Given the description of an element on the screen output the (x, y) to click on. 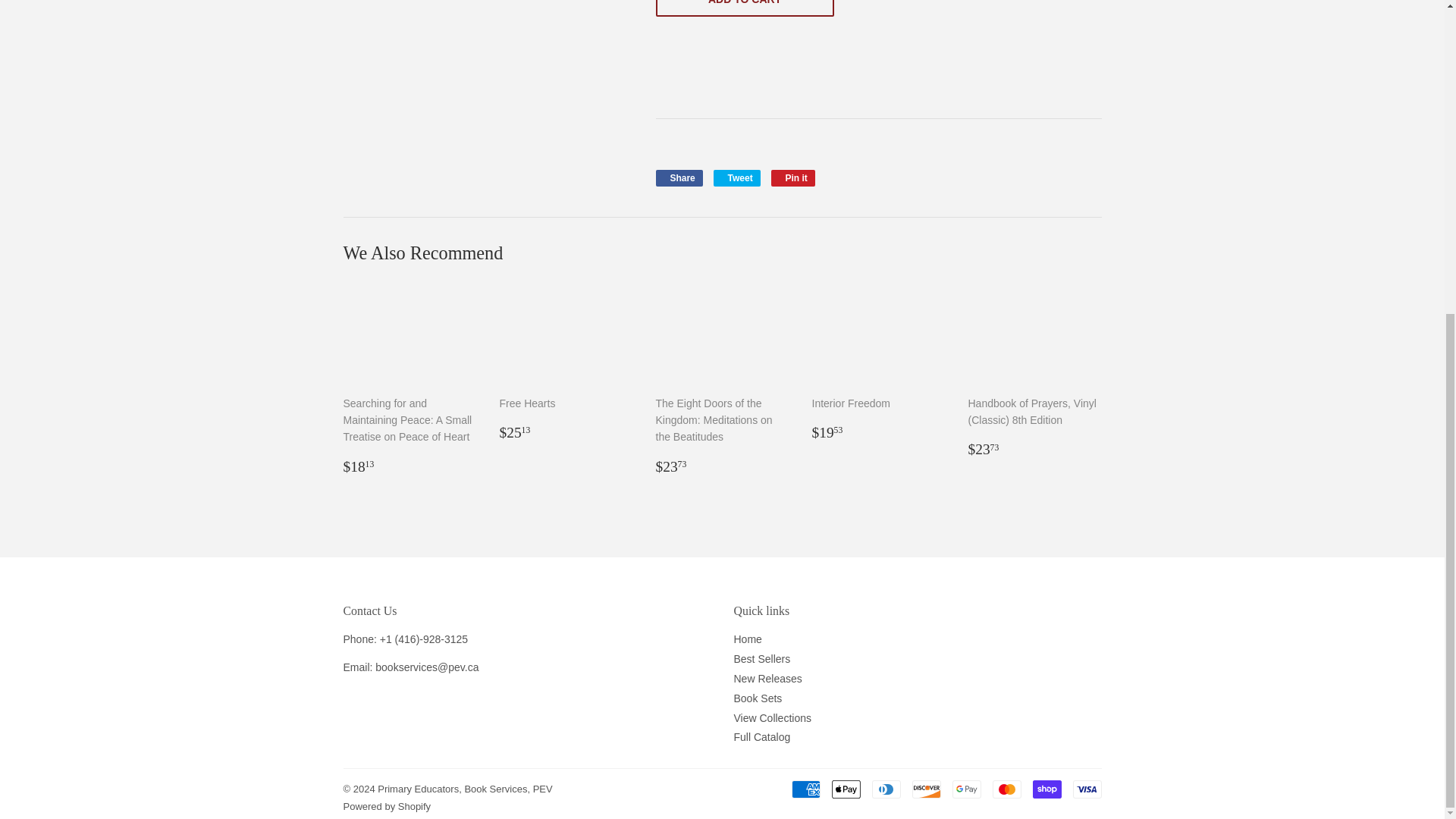
Home (747, 639)
Google Pay (966, 789)
ADD TO CART (743, 8)
Pin on Pinterest (793, 177)
American Express (806, 789)
Discover (925, 789)
Shop Pay (793, 177)
Tweet on Twitter (1046, 789)
Mastercard (736, 177)
Share on Facebook (736, 177)
Diners Club (678, 177)
Apple Pay (1005, 789)
